Given the description of an element on the screen output the (x, y) to click on. 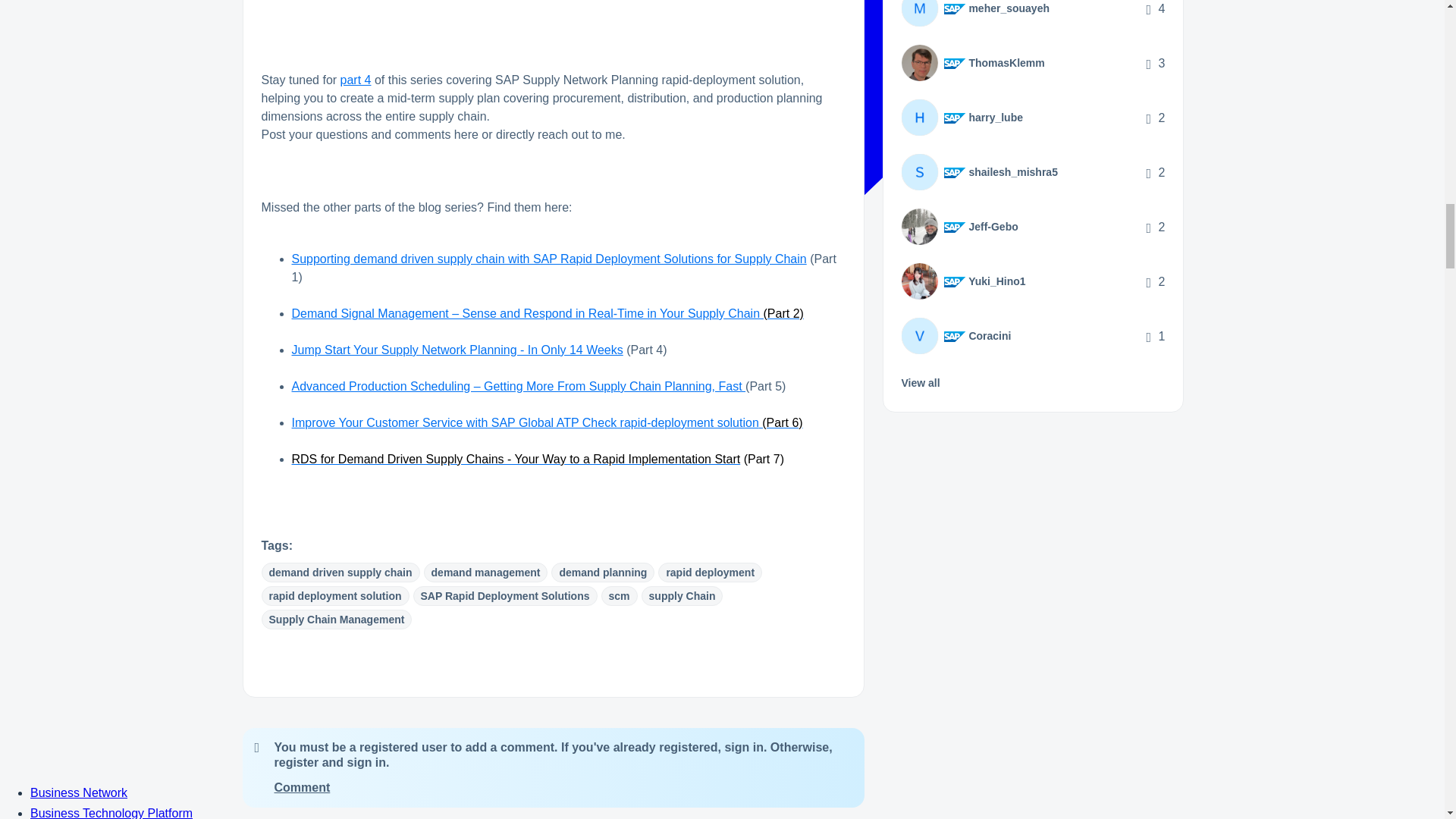
demand management (485, 572)
demand driven supply chain (339, 572)
part 4 (355, 79)
demand planning (602, 572)
Jump Start Your Supply Network Planning - In Only 14 Weeks (457, 349)
